Given the description of an element on the screen output the (x, y) to click on. 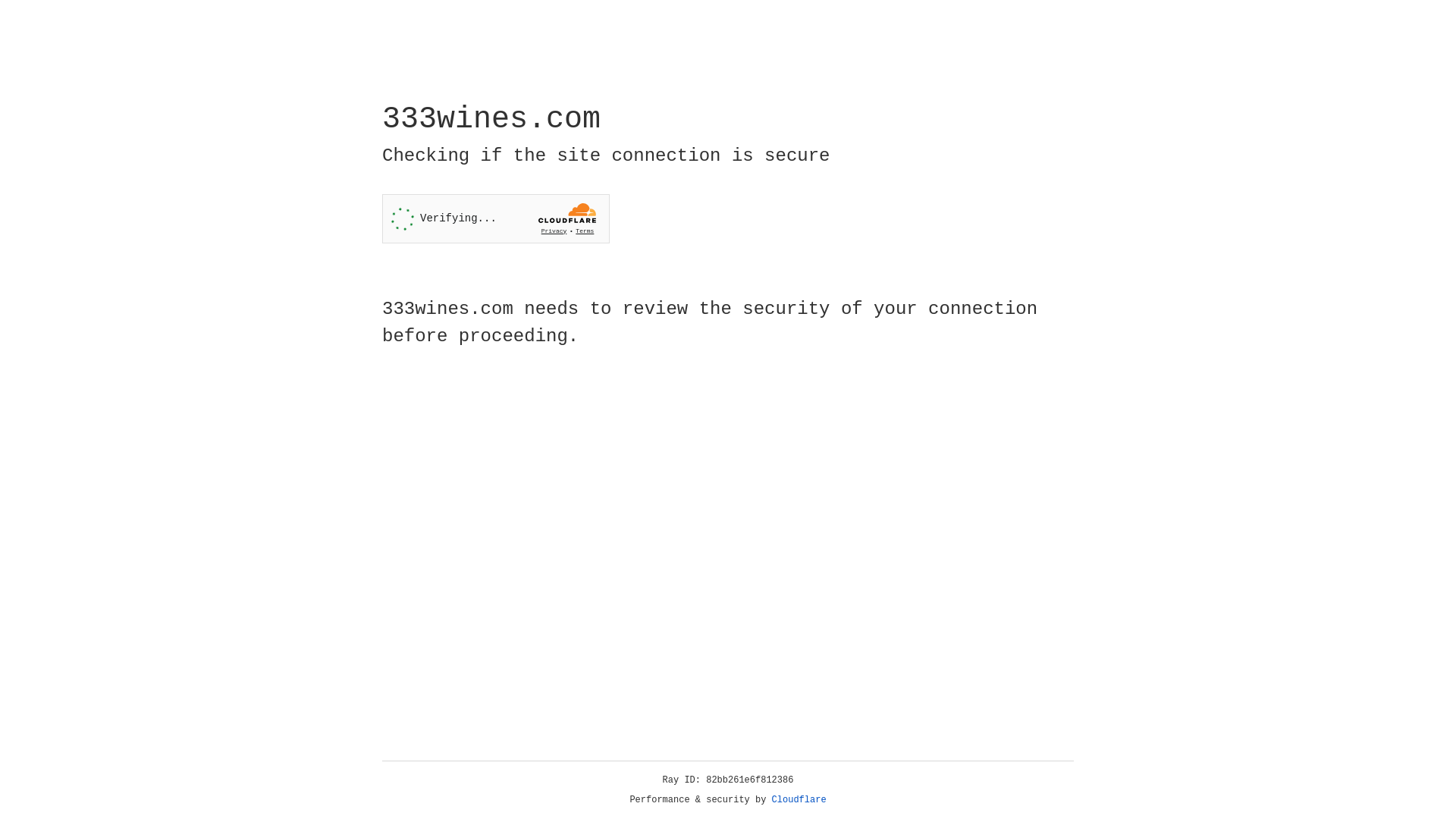
Cloudflare Element type: text (798, 799)
Widget containing a Cloudflare security challenge Element type: hover (495, 218)
